Given the description of an element on the screen output the (x, y) to click on. 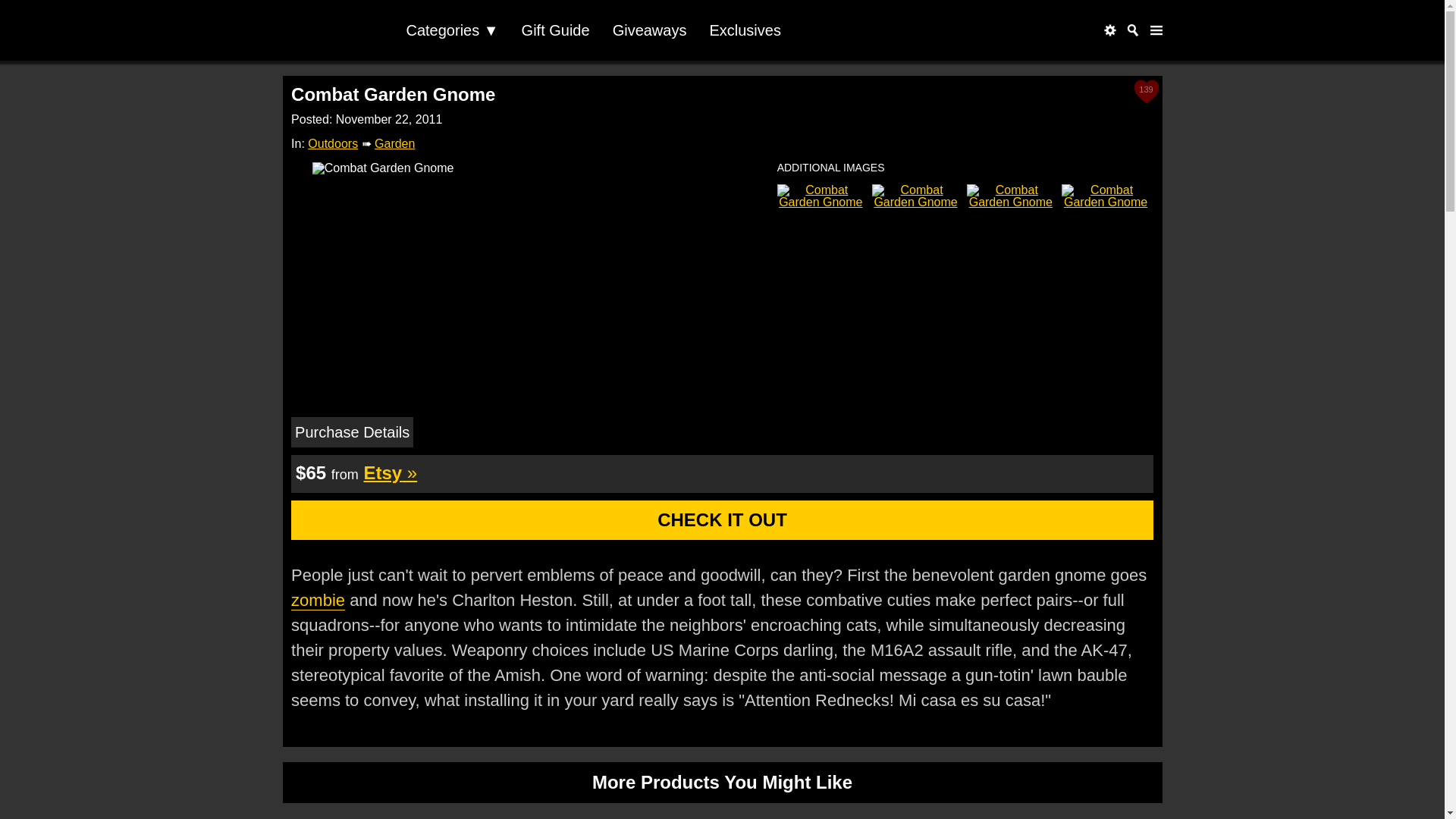
Garden (394, 143)
139 (1146, 91)
Giveaways (649, 30)
Gift Guide (556, 30)
Exclusives (744, 30)
CHECK IT OUT (722, 519)
Outdoors (332, 143)
Combat Garden Gnome (528, 168)
